Given the description of an element on the screen output the (x, y) to click on. 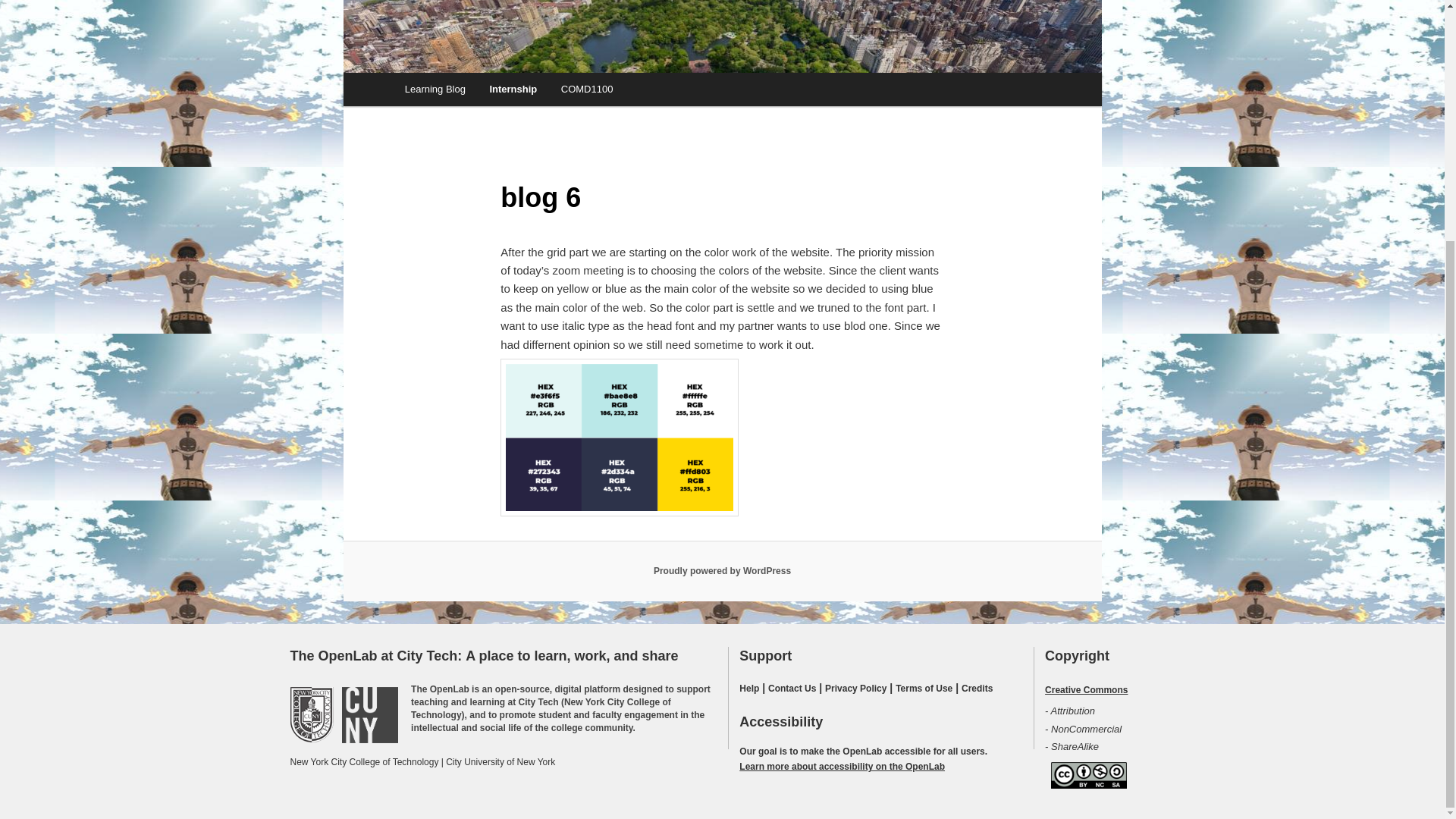
Learning Blog (435, 88)
Internship (512, 88)
Semantic Personal Publishing Platform (721, 570)
